Given the description of an element on the screen output the (x, y) to click on. 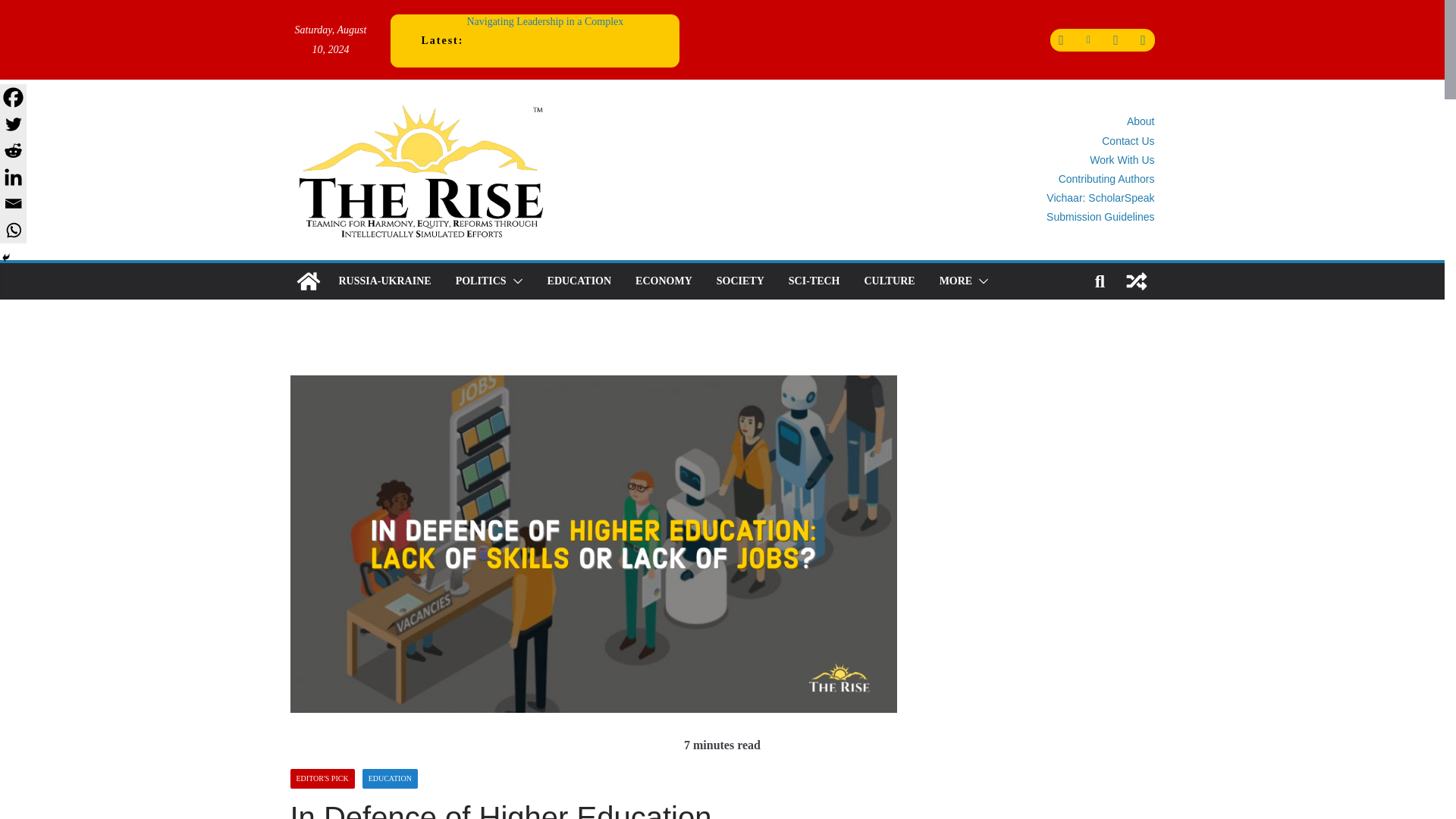
MORE (955, 281)
EDITOR'S PICK (321, 778)
POLITICS (480, 281)
CULTURE (888, 281)
RUSSIA-UKRAINE (383, 281)
EDUCATION (579, 281)
Work With Us (1121, 159)
View a random post (1136, 280)
SCI-TECH (814, 281)
Contact Us (1128, 141)
